Given the description of an element on the screen output the (x, y) to click on. 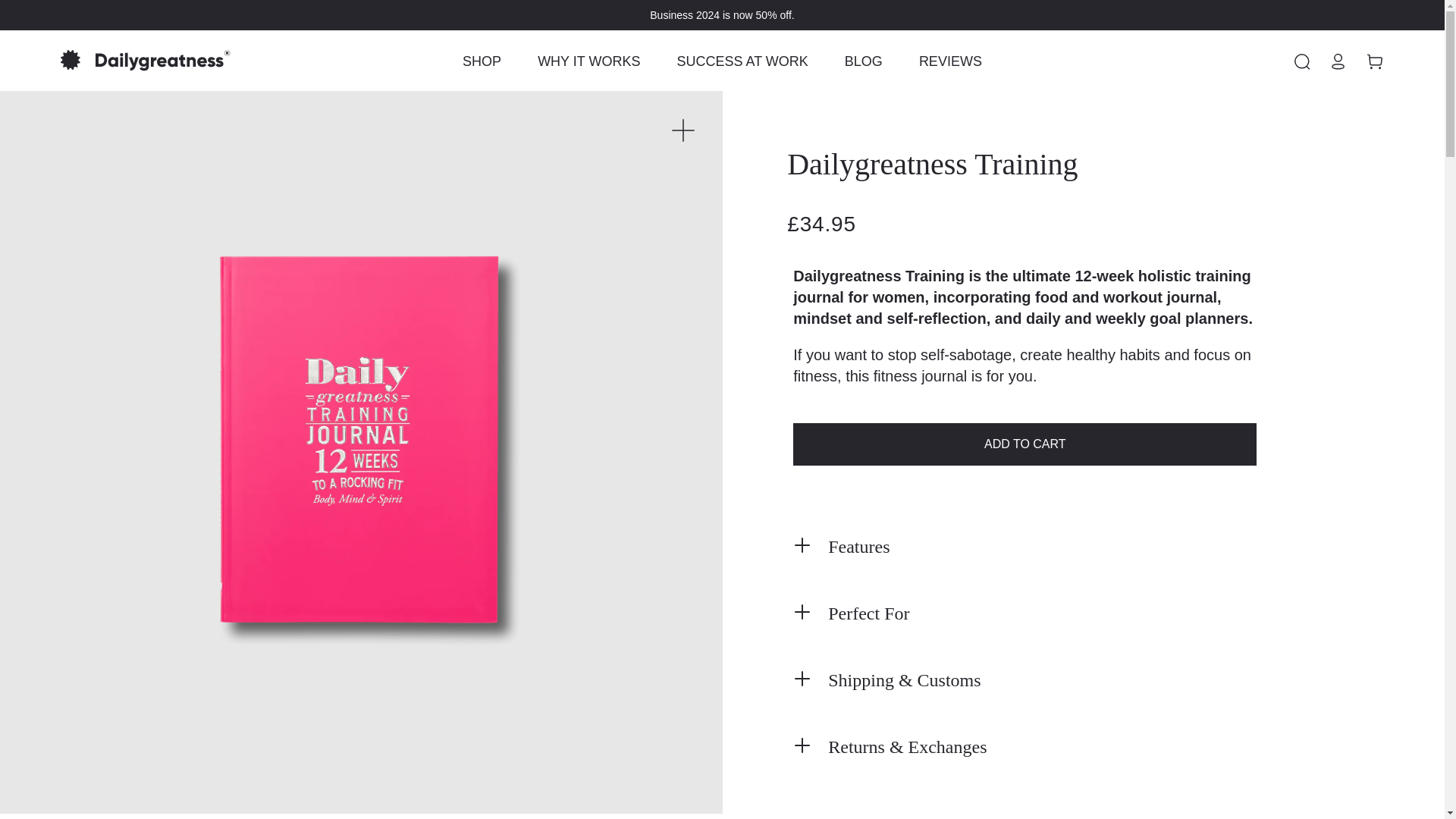
SHOP (481, 61)
Why it works (588, 61)
ADD TO CART (1024, 444)
SUCCESS AT WORK (741, 61)
WHY IT WORKS (588, 61)
Blog (863, 61)
REVIEWS (950, 61)
BLOG (863, 61)
Shop (481, 61)
